Given the description of an element on the screen output the (x, y) to click on. 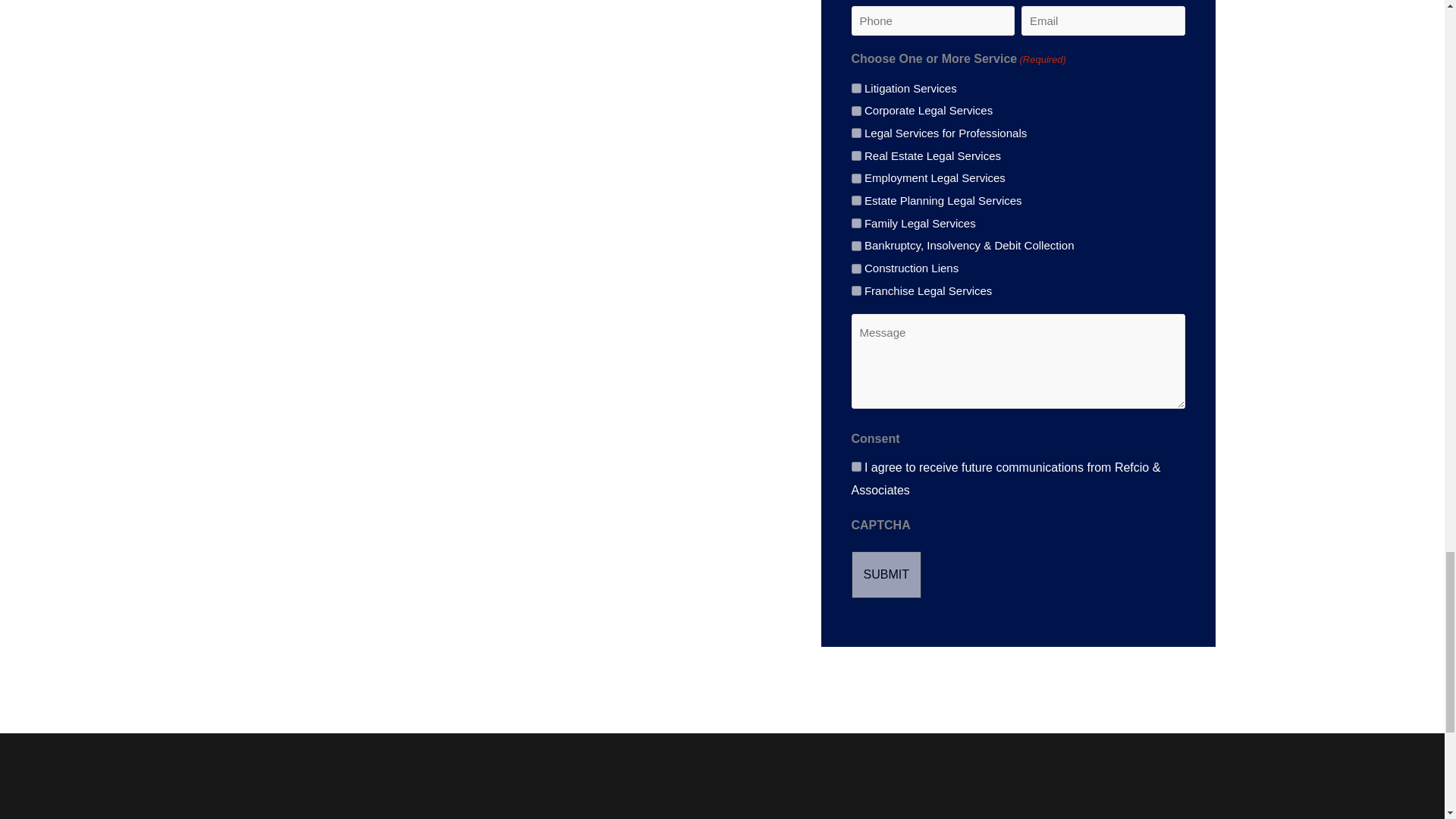
Employment Legal Services (855, 178)
Construction Liens (855, 268)
Legal Services for Professionals (855, 132)
Family Legal Services (855, 223)
1 (855, 466)
Real Estate Legal Services (855, 155)
Litigation Services (855, 88)
Corporate Legal Services (855, 111)
Submit (885, 574)
Franchise Legal Services (855, 290)
Estate Planning Legal Services (855, 200)
